Given the description of an element on the screen output the (x, y) to click on. 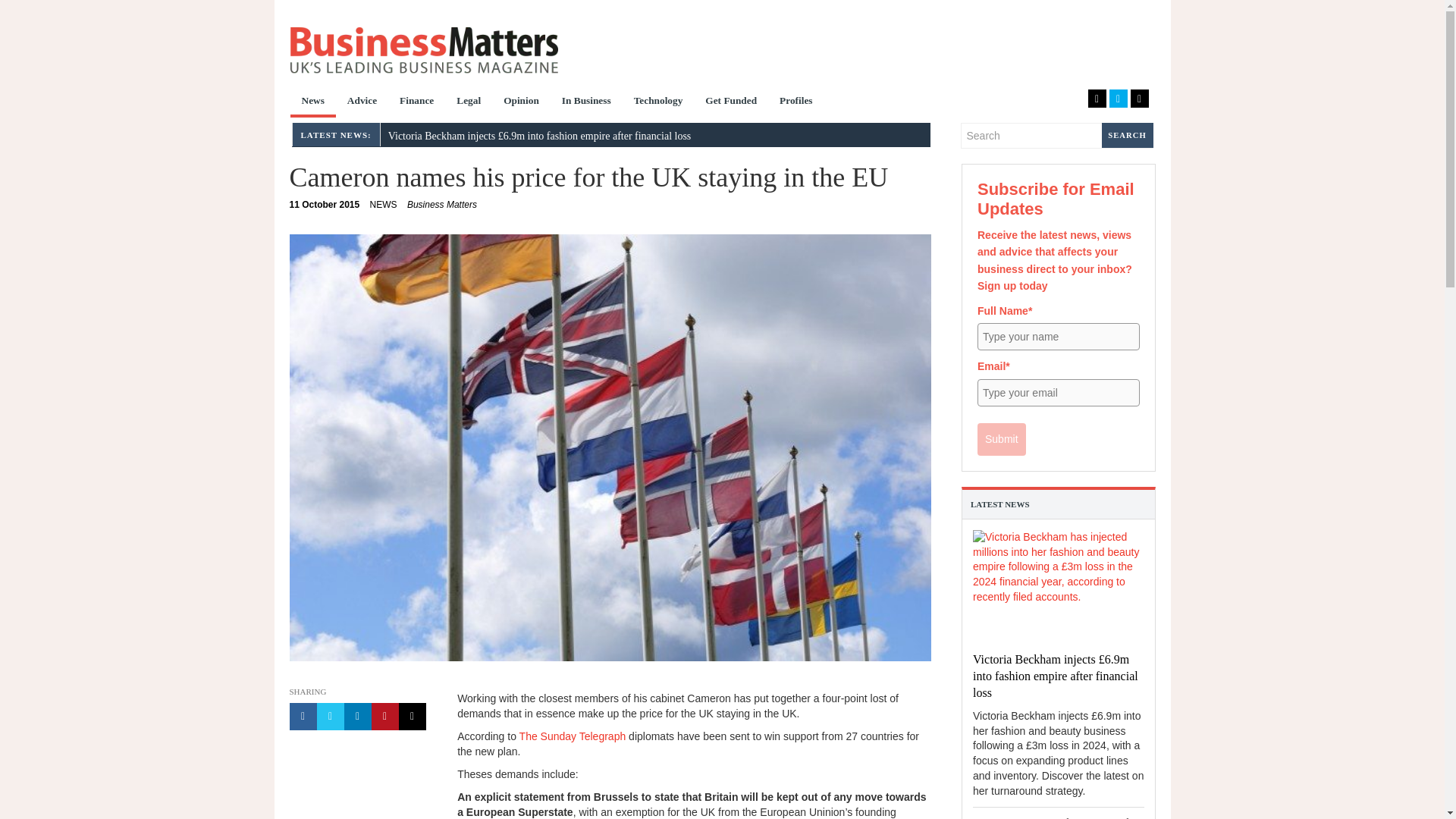
Business Matters (324, 204)
Business Matters (423, 50)
Advice (442, 204)
Finance (362, 101)
News (416, 101)
The Sunday Telegraph (311, 101)
NEWS (572, 736)
Legal (383, 204)
Technology (468, 101)
